Given the description of an element on the screen output the (x, y) to click on. 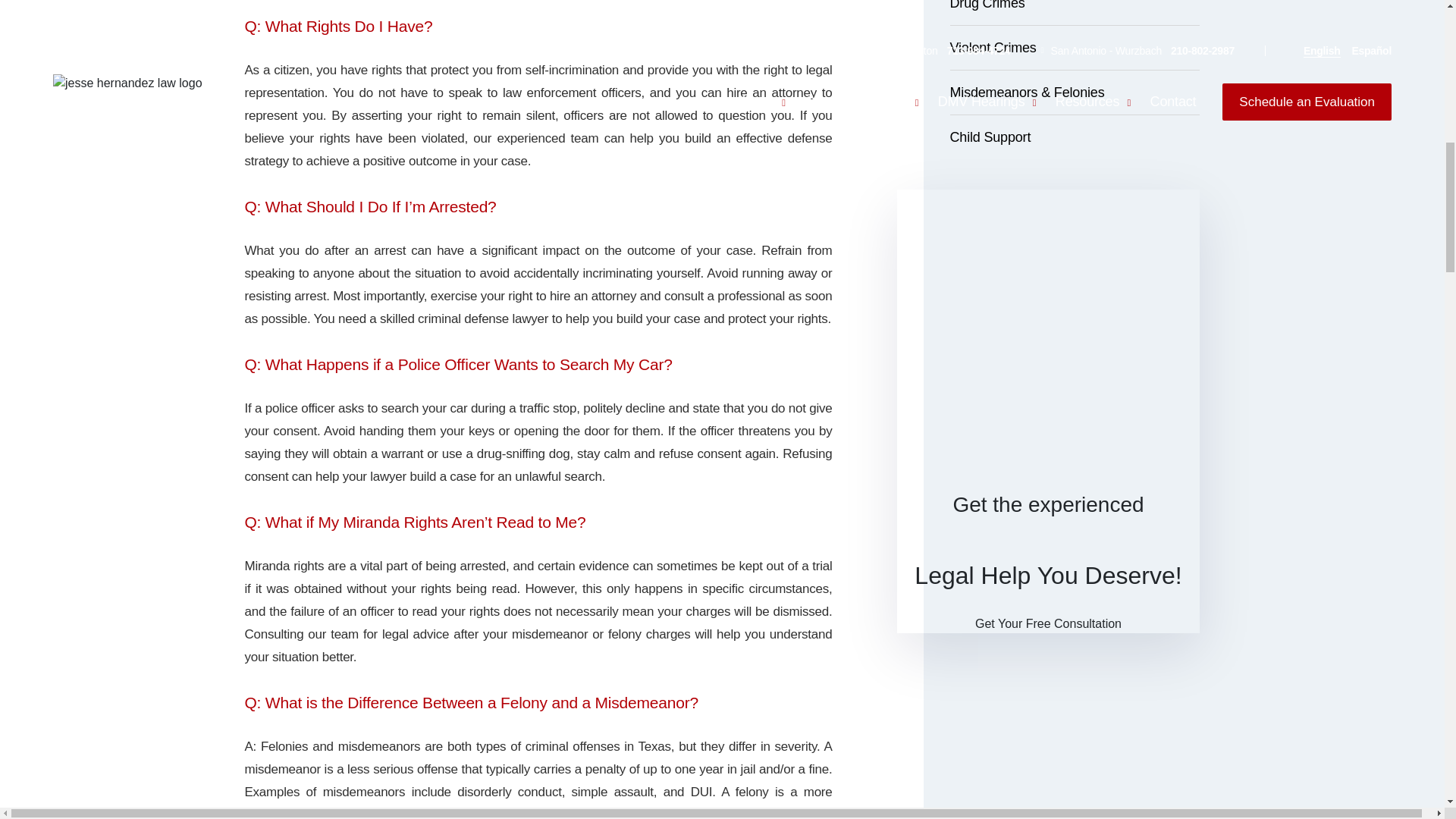
Felonies and misdemeanors (340, 746)
